Given the description of an element on the screen output the (x, y) to click on. 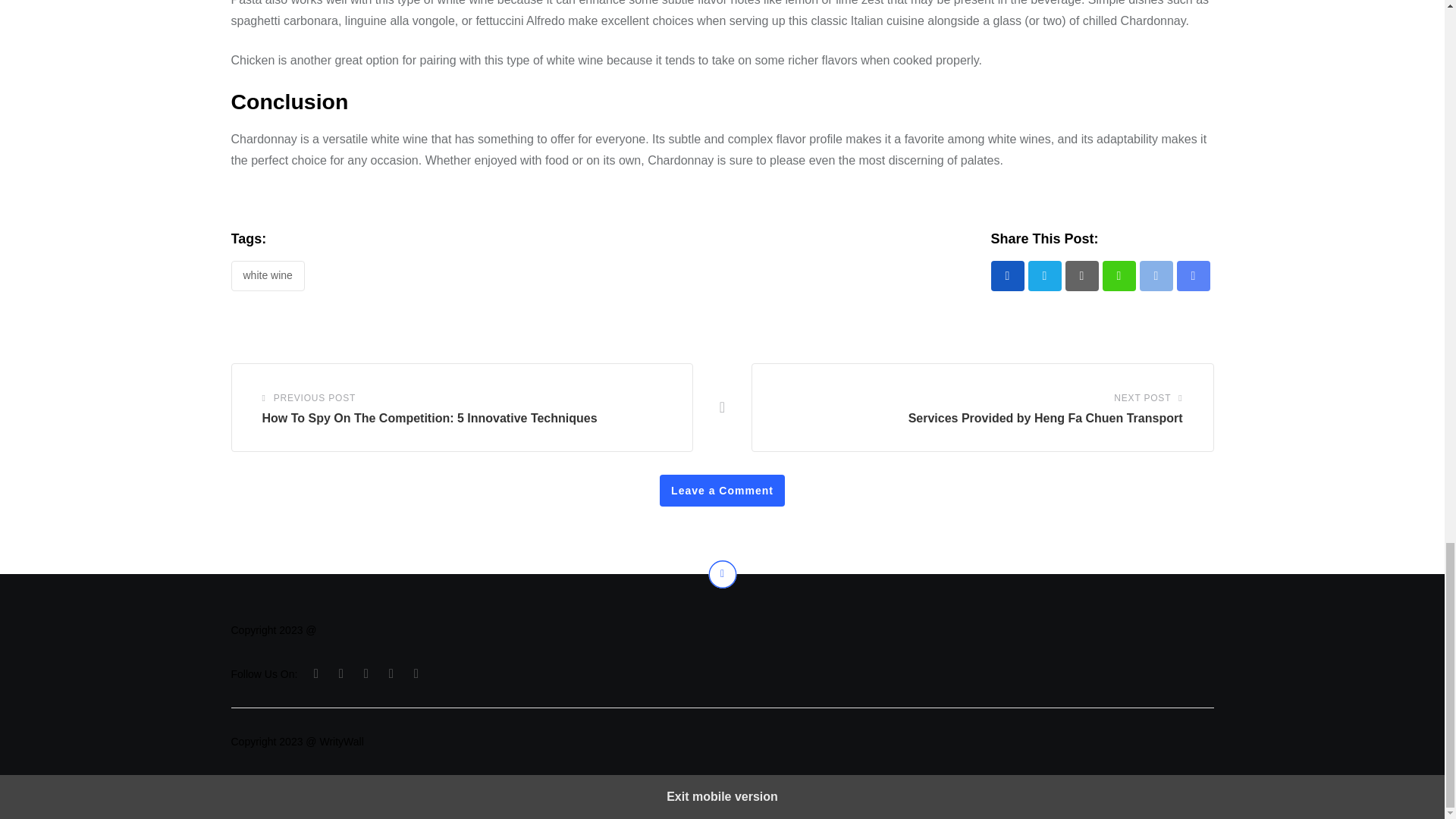
PREVIOUS POST (314, 397)
How To Spy On The Competition: 5 Innovative Techniques (429, 418)
Services Provided by Heng Fa Chuen Transport (1045, 418)
NEXT POST (1141, 397)
Leave a Comment (721, 490)
white wine (267, 276)
Print (1155, 276)
Whatsapp (1118, 276)
Share via Email (1192, 276)
Pinterest (1080, 276)
